Given the description of an element on the screen output the (x, y) to click on. 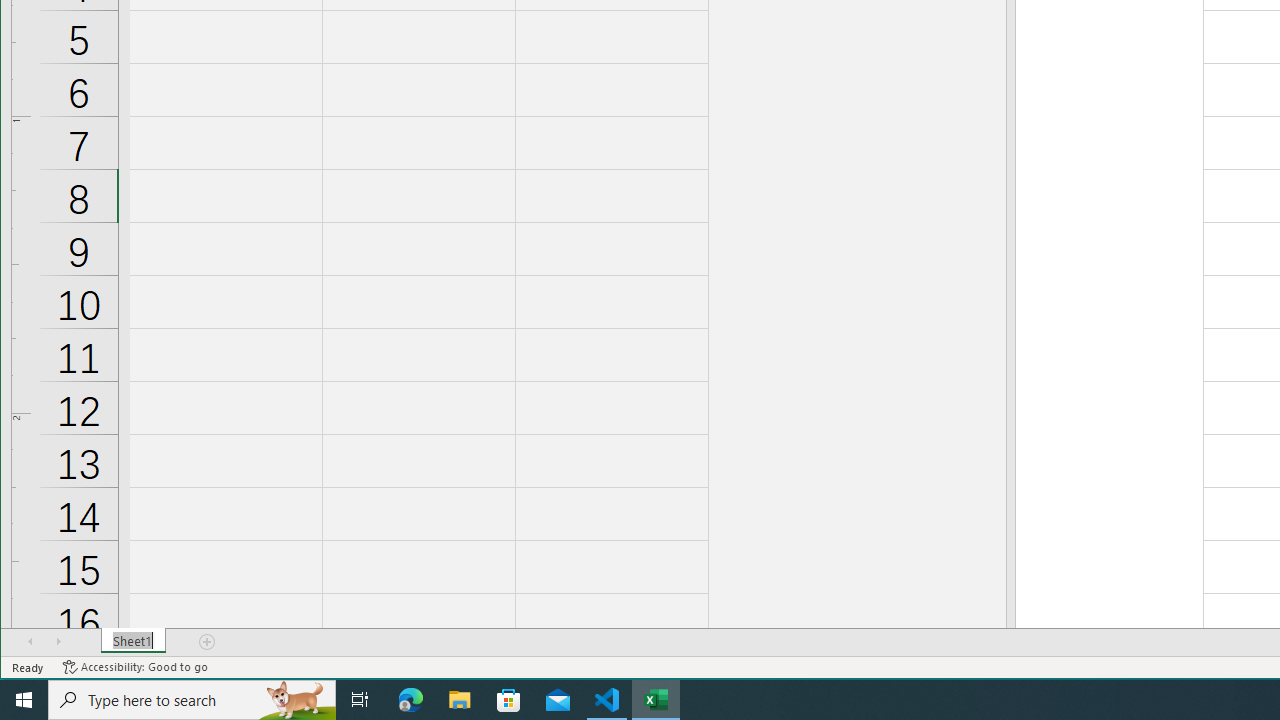
Scroll Right (58, 641)
